Given the description of an element on the screen output the (x, y) to click on. 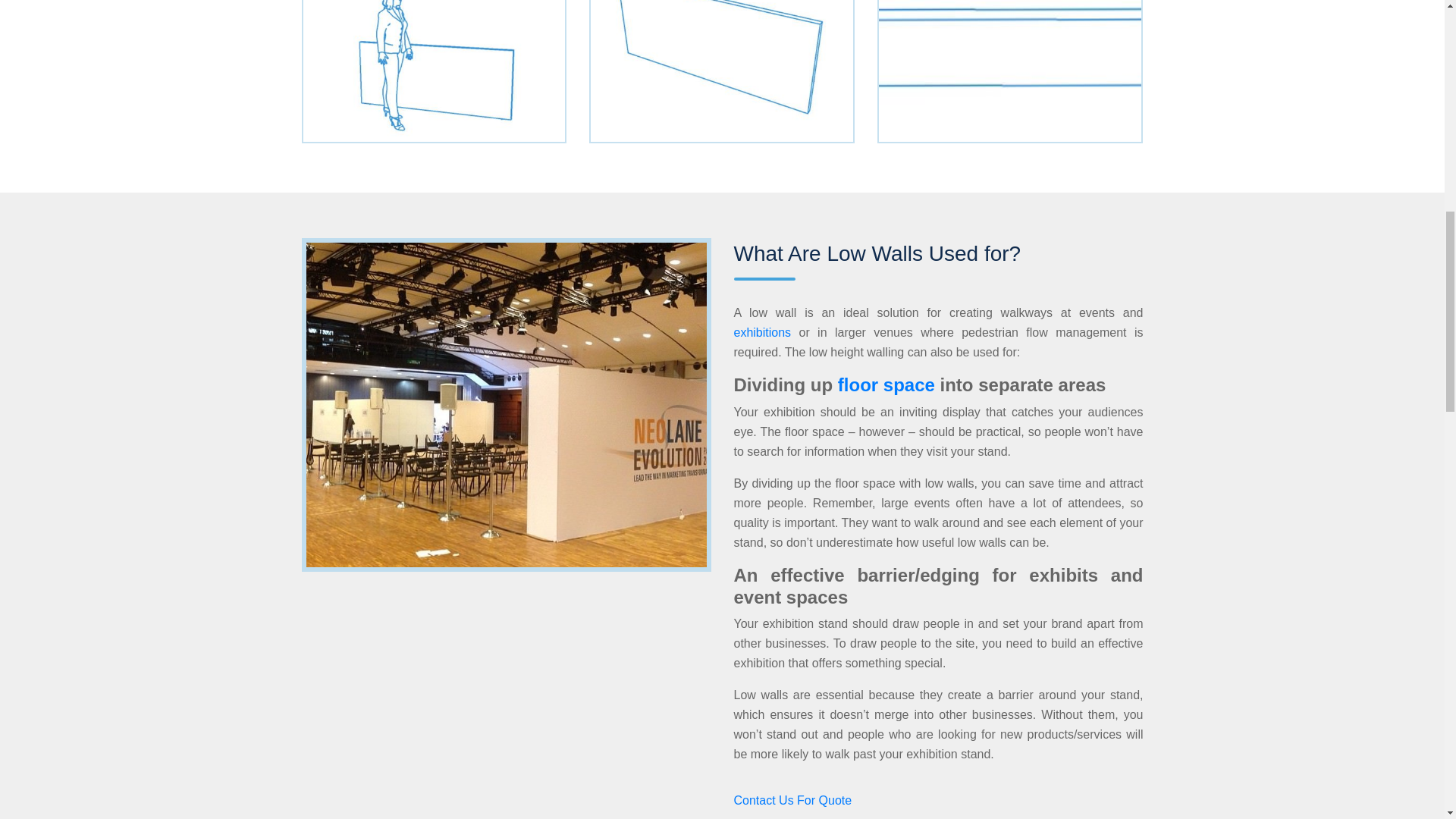
Contact Us (792, 799)
